Given the description of an element on the screen output the (x, y) to click on. 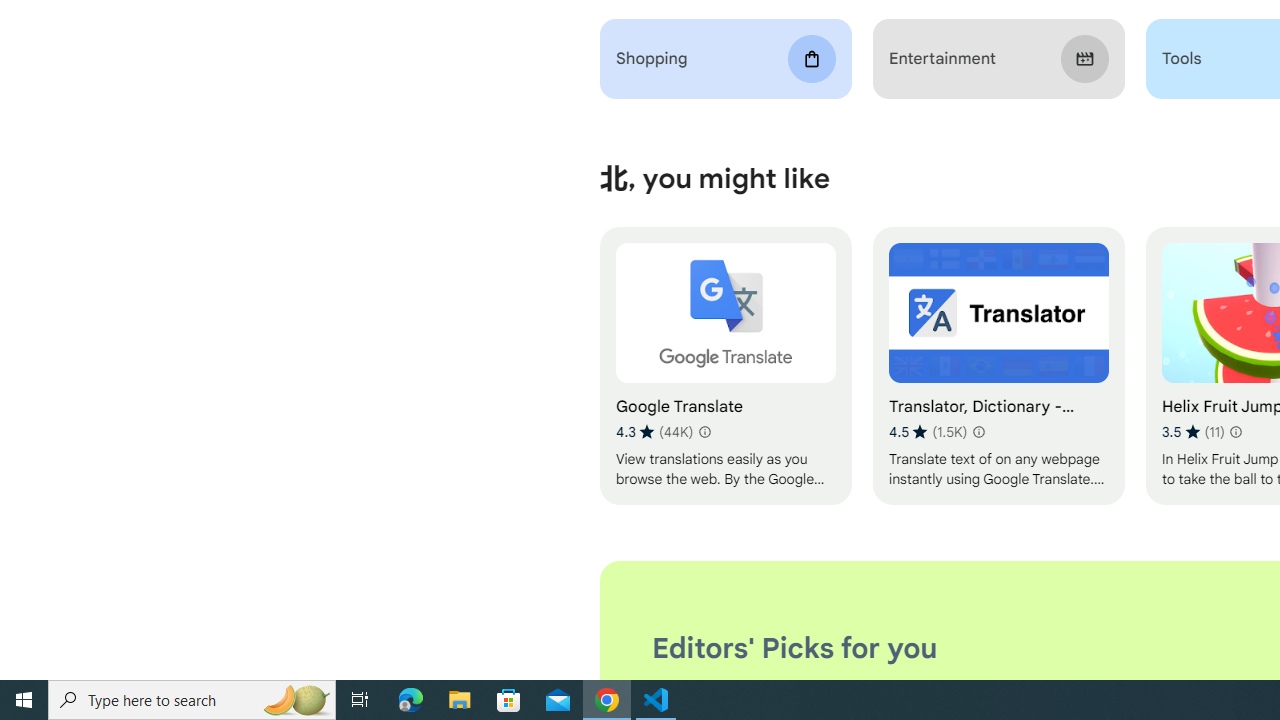
Translator, Dictionary - Accurate Translate (998, 366)
Entertainment (998, 59)
Average rating 4.3 out of 5 stars. 44K ratings. (653, 431)
Shopping (725, 59)
Google Translate (725, 366)
Average rating 4.5 out of 5 stars. 1.5K ratings. (927, 431)
Average rating 3.5 out of 5 stars. 11 ratings. (1192, 431)
Learn more about results and reviews "Google Translate" (703, 431)
